Given the description of an element on the screen output the (x, y) to click on. 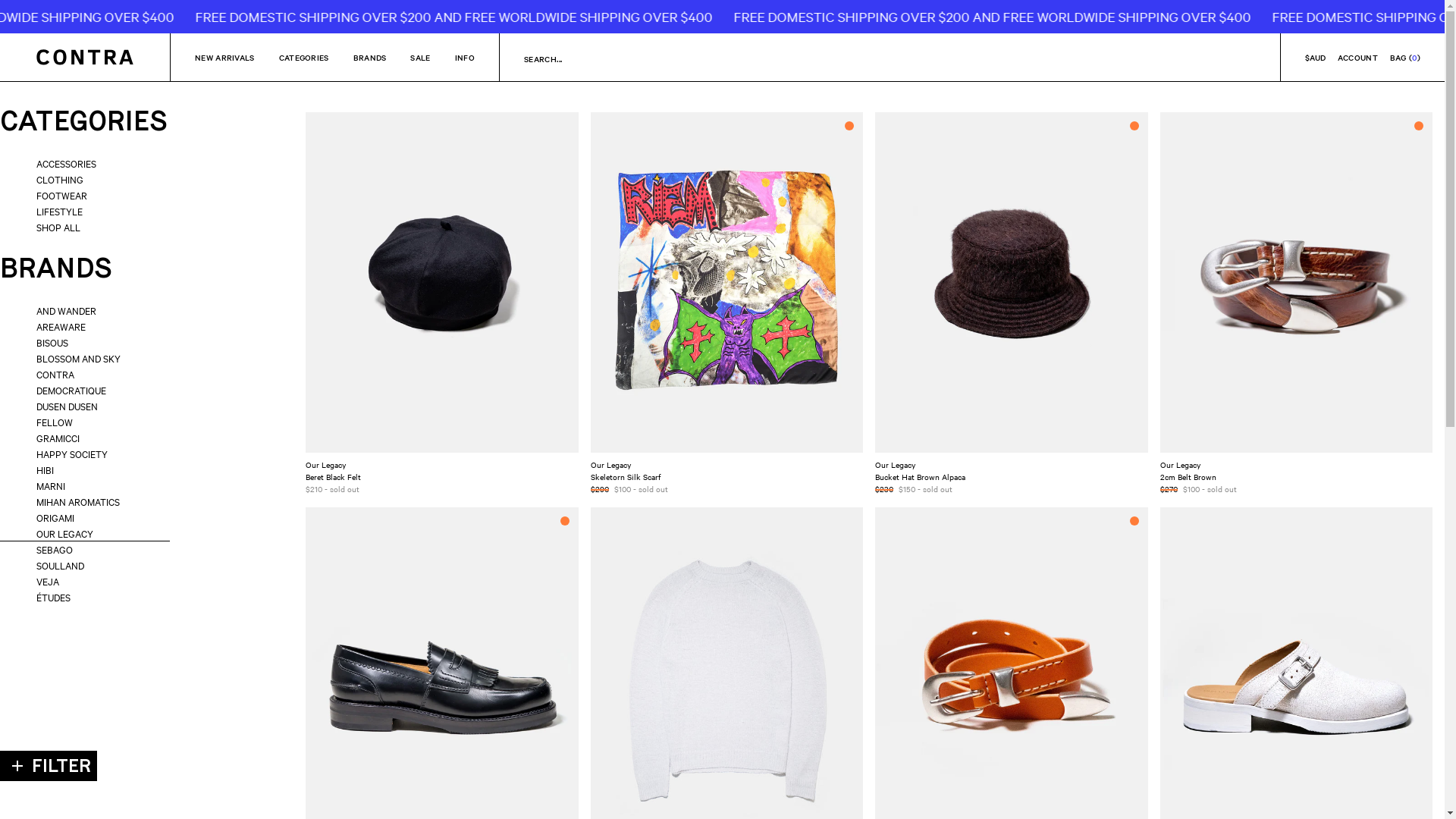
ACCESSORIES Element type: text (84, 163)
CATEGORIES Element type: text (304, 57)
SEBAGO Element type: text (84, 549)
SOULLAND Element type: text (84, 565)
AND WANDER Element type: text (84, 310)
BRANDS Element type: text (369, 57)
AREAWARE Element type: text (84, 326)
BAG (0) Element type: text (1405, 57)
FOOTWEAR Element type: text (84, 195)
SALE Element type: text (419, 57)
DUSEN DUSEN Element type: text (84, 406)
MIHAN AROMATICS Element type: text (84, 501)
HIBI Element type: text (84, 469)
BLOSSOM AND SKY Element type: text (84, 358)
ORIGAMI Element type: text (84, 517)
LIFESTYLE Element type: text (84, 211)
CLOTHING Element type: text (84, 179)
MARNI Element type: text (84, 485)
CATEGORIES Element type: text (84, 121)
HAPPY SOCIETY Element type: text (84, 453)
BISOUS Element type: text (84, 342)
INFO Element type: text (464, 57)
FELLOW Element type: text (84, 421)
VEJA Element type: text (84, 581)
Sign up Element type: text (716, 680)
SHOP ALL Element type: text (84, 227)
GRAMICCI Element type: text (84, 437)
OUR LEGACY Element type: text (84, 533)
NEW ARRIVALS Element type: text (224, 57)
DEMOCRATIQUE Element type: text (84, 390)
ACCOUNT Element type: text (1357, 57)
BRANDS Element type: text (84, 268)
CONTRA Element type: text (84, 374)
FILTER Element type: text (48, 765)
